Given the description of an element on the screen output the (x, y) to click on. 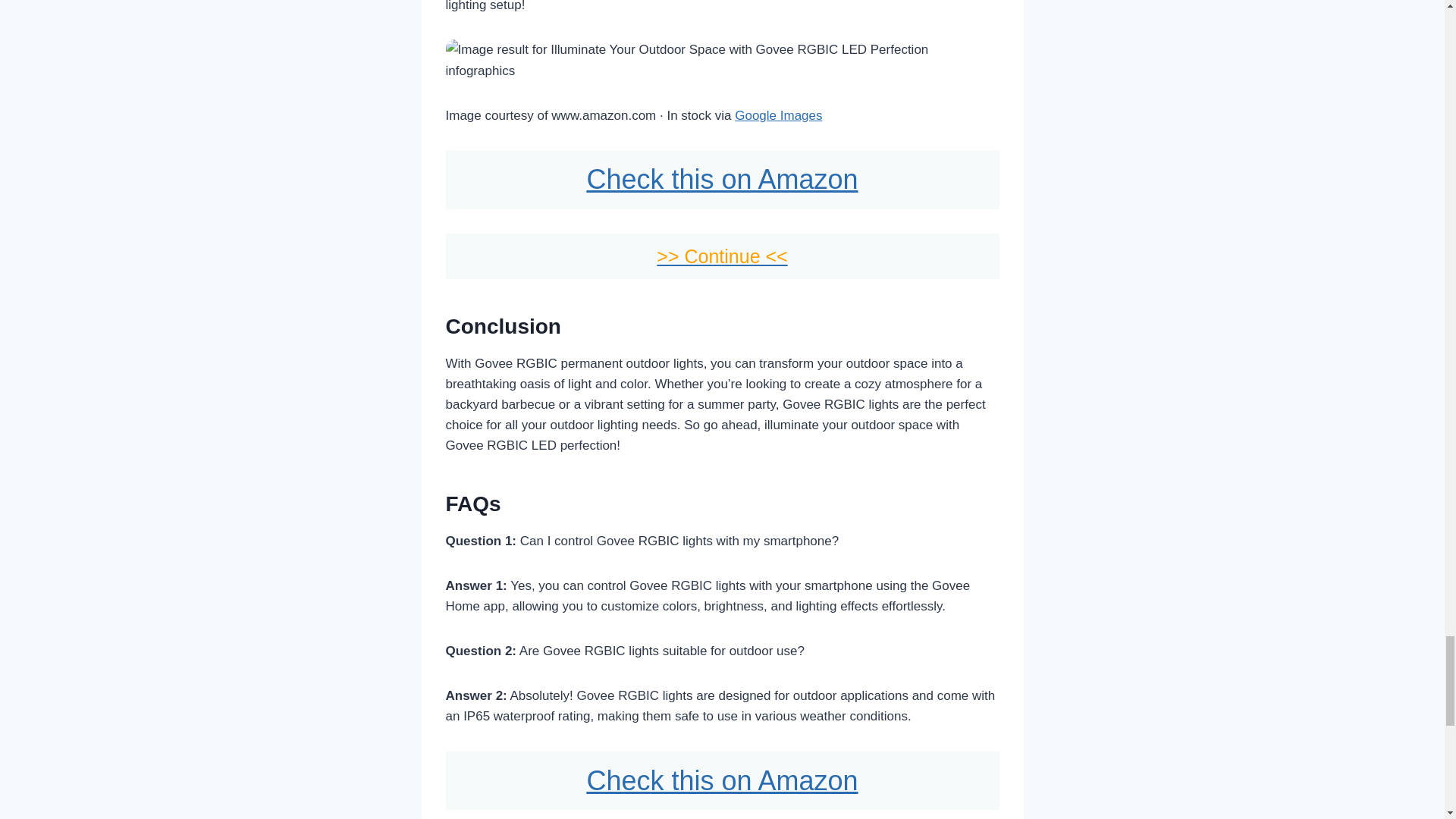
Google Images (778, 115)
